Given the description of an element on the screen output the (x, y) to click on. 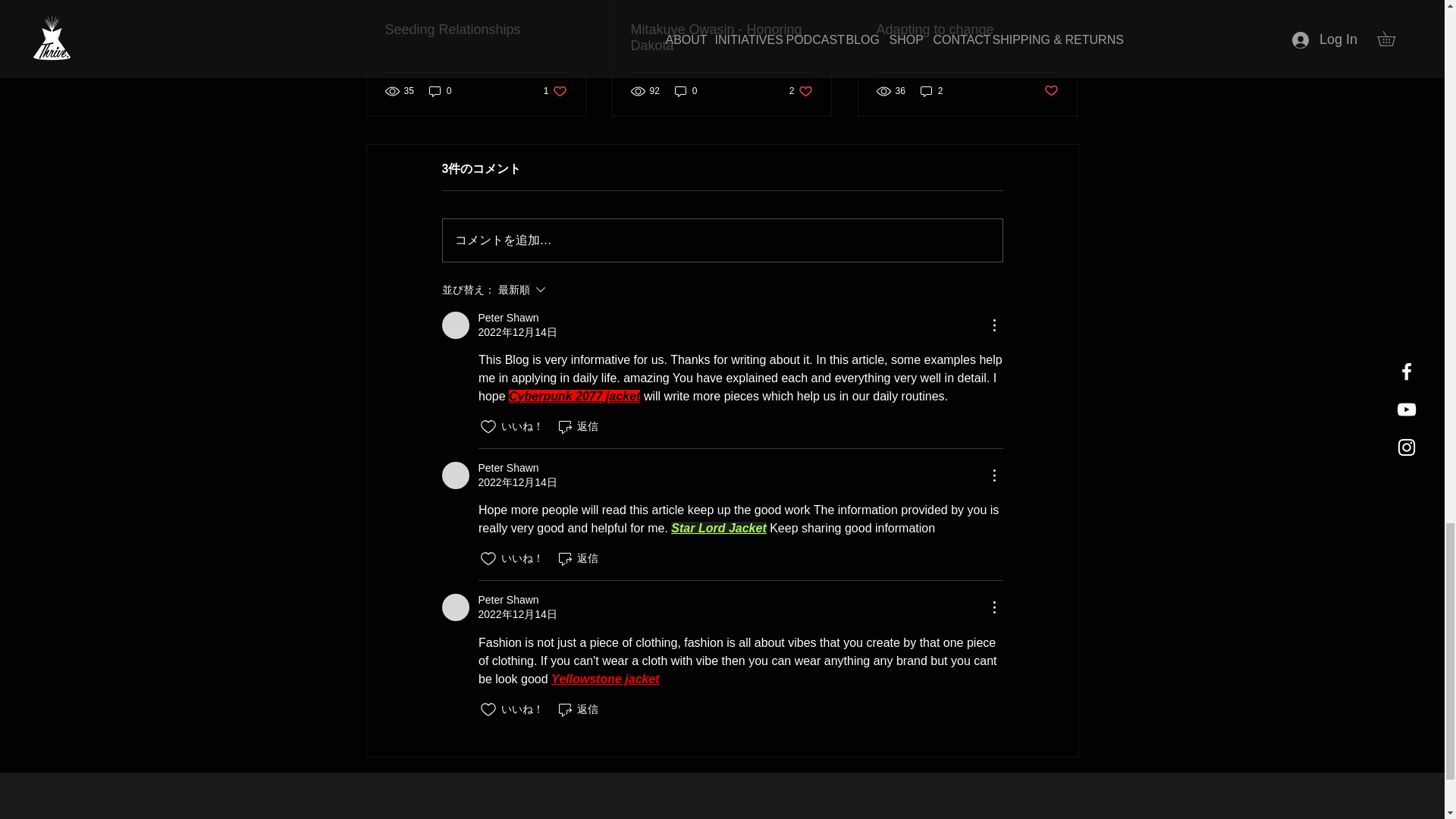
Peter Shawn (454, 474)
0 (440, 90)
Peter Shawn (454, 606)
Adapting to change (967, 29)
0 (685, 90)
Post not marked as liked (1050, 91)
2 (931, 90)
Seeding Relationships (476, 29)
Cyberpunk 2077 jacket (800, 90)
Mitakuye Owasin - Honoring Dakota (574, 395)
Peter Shawn (721, 38)
Peter Shawn (507, 318)
